Given the description of an element on the screen output the (x, y) to click on. 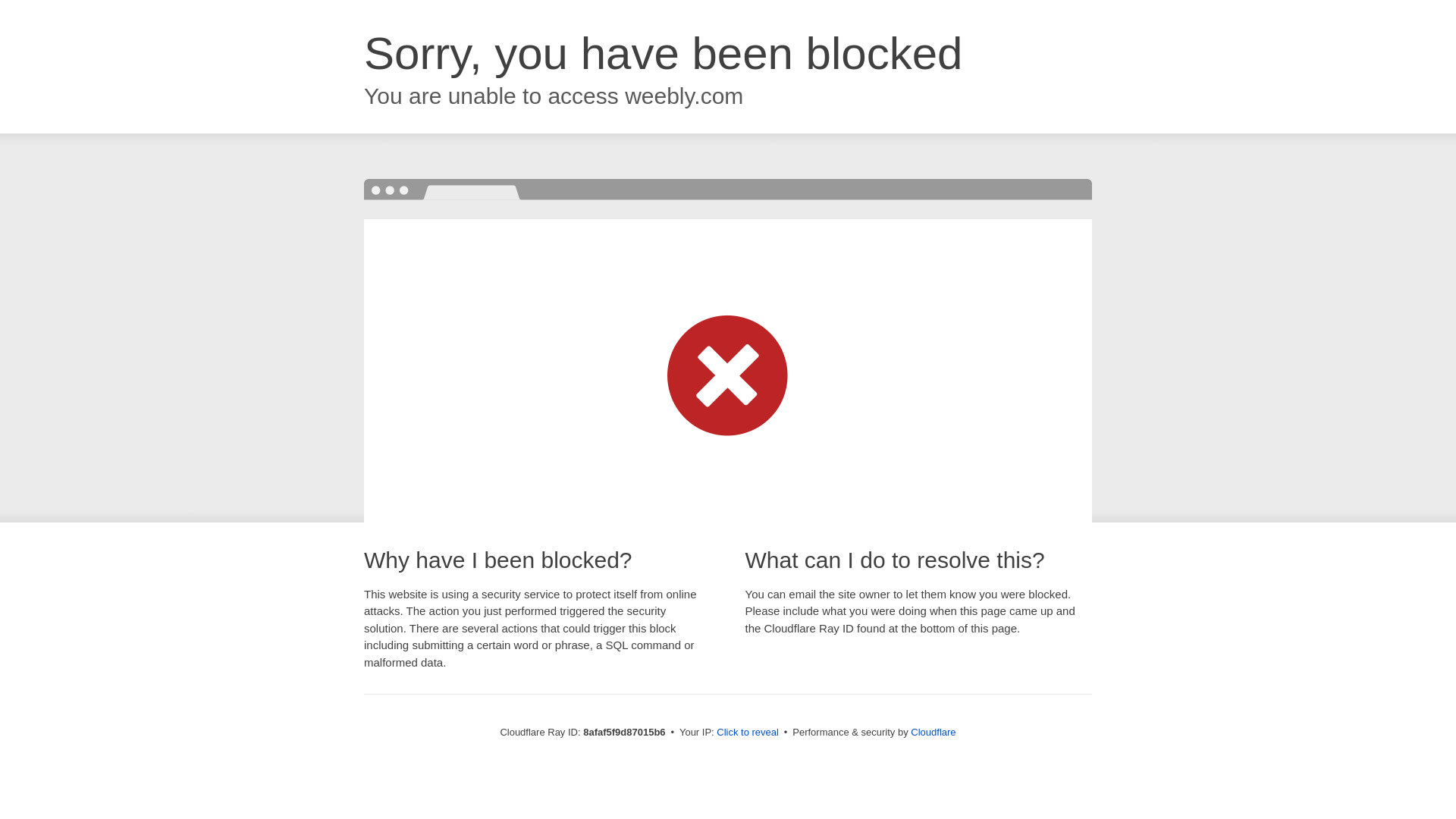
Cloudflare (933, 731)
Click to reveal (747, 732)
